Given the description of an element on the screen output the (x, y) to click on. 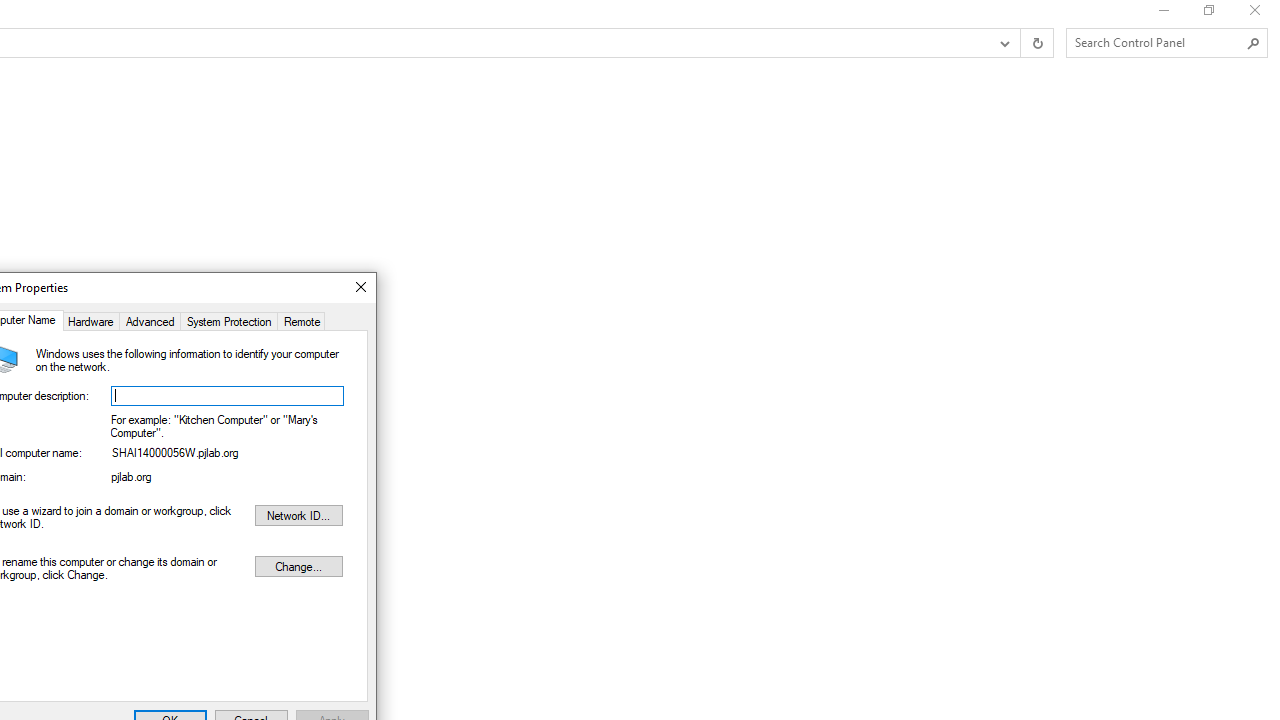
Computer description: (227, 395)
Close (360, 287)
Change... (298, 566)
Hardware (90, 320)
Domain: (227, 480)
System Protection (228, 320)
Full computer name: (227, 455)
Remote (301, 320)
Advanced (150, 320)
Network ID... (298, 515)
